Given the description of an element on the screen output the (x, y) to click on. 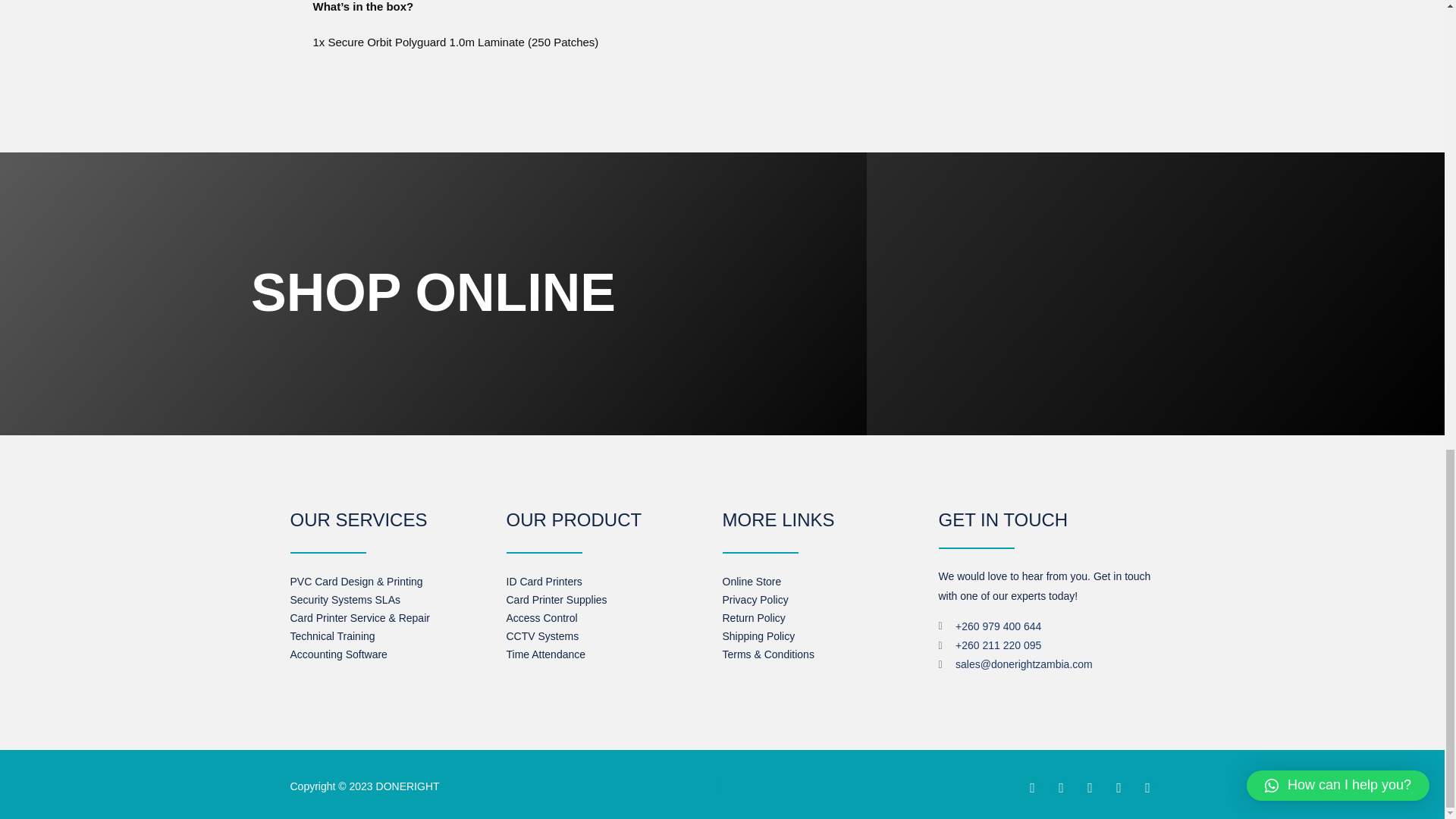
Technical Training (331, 635)
Card Printer Supplies (556, 599)
Time Attendance (546, 654)
CCTV Systems (542, 635)
Access Control (542, 617)
Security Systems SLAs (344, 599)
Accounting Software (338, 654)
ID Card Printers (544, 581)
